Given the description of an element on the screen output the (x, y) to click on. 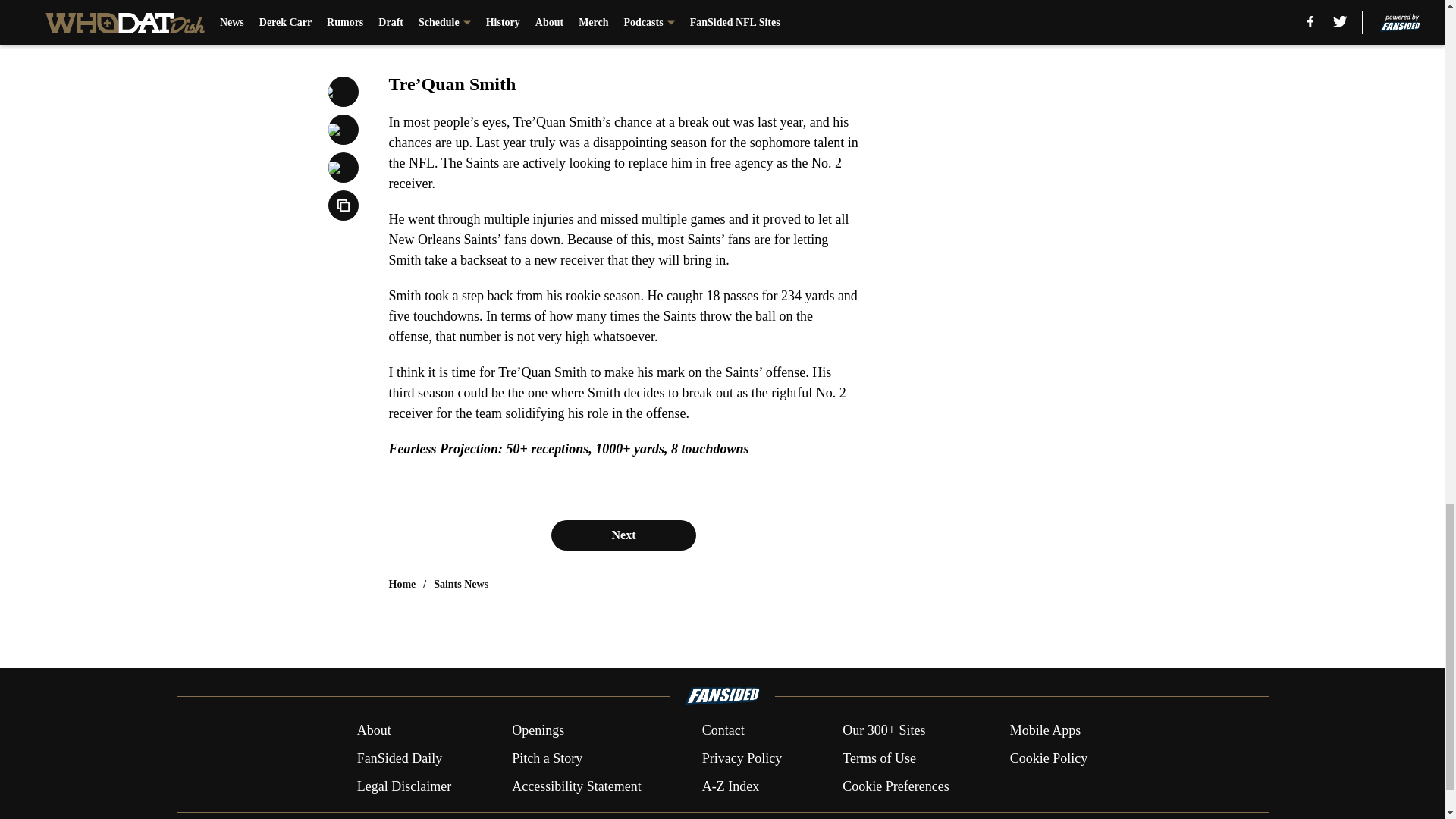
FanSided Daily (399, 758)
Terms of Use (879, 758)
Openings (538, 730)
Next (622, 535)
Home (401, 584)
About (373, 730)
Cookie Policy (1048, 758)
Pitch a Story (547, 758)
Saints News (460, 584)
Privacy Policy (742, 758)
Contact (722, 730)
Mobile Apps (1045, 730)
